Given the description of an element on the screen output the (x, y) to click on. 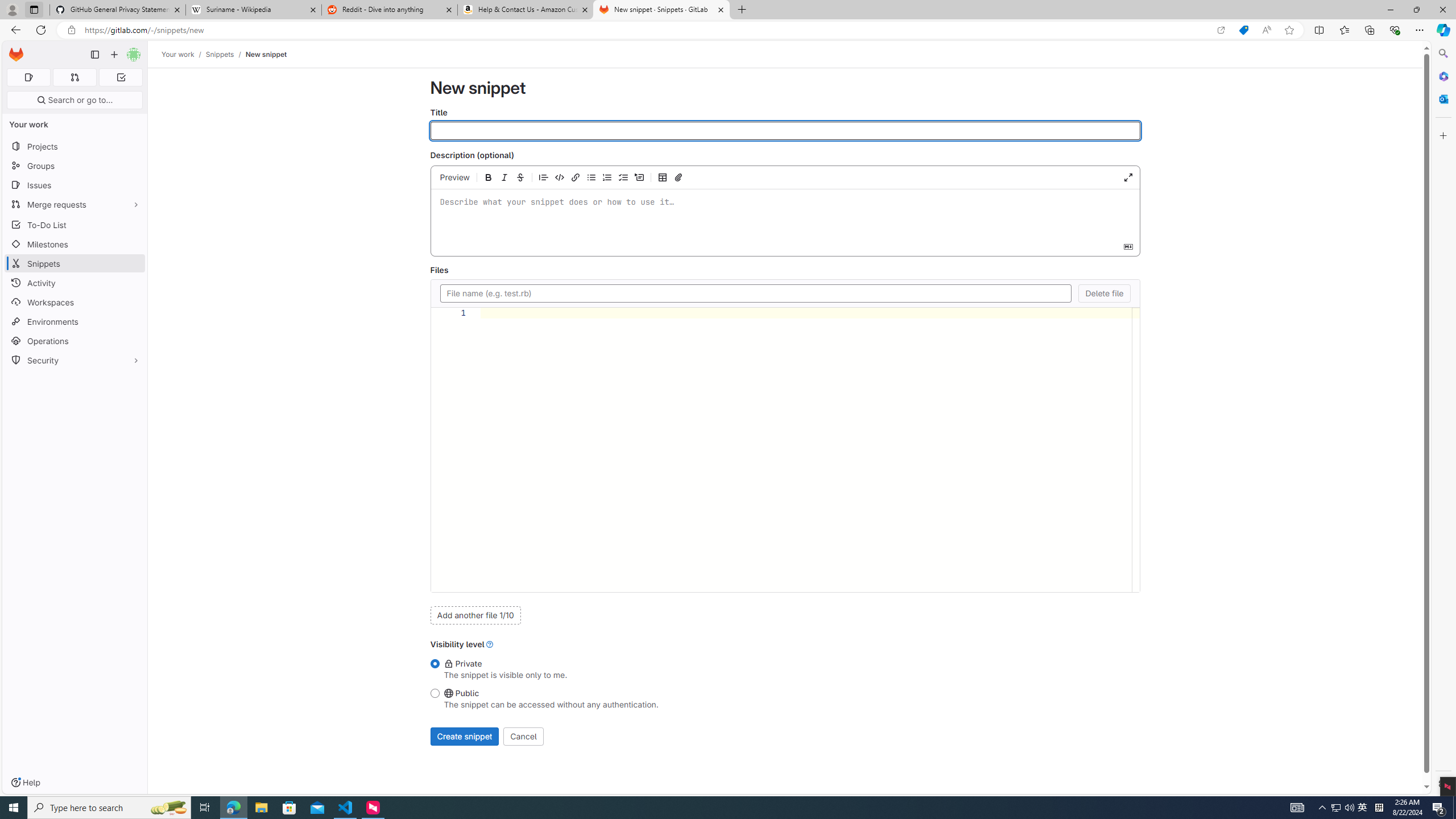
To-Do List (74, 224)
Delete file (1104, 293)
Activity (74, 282)
Homepage (16, 54)
Help (25, 782)
Open in app (1220, 29)
Add a checklist (622, 177)
Operations (74, 340)
